Given the description of an element on the screen output the (x, y) to click on. 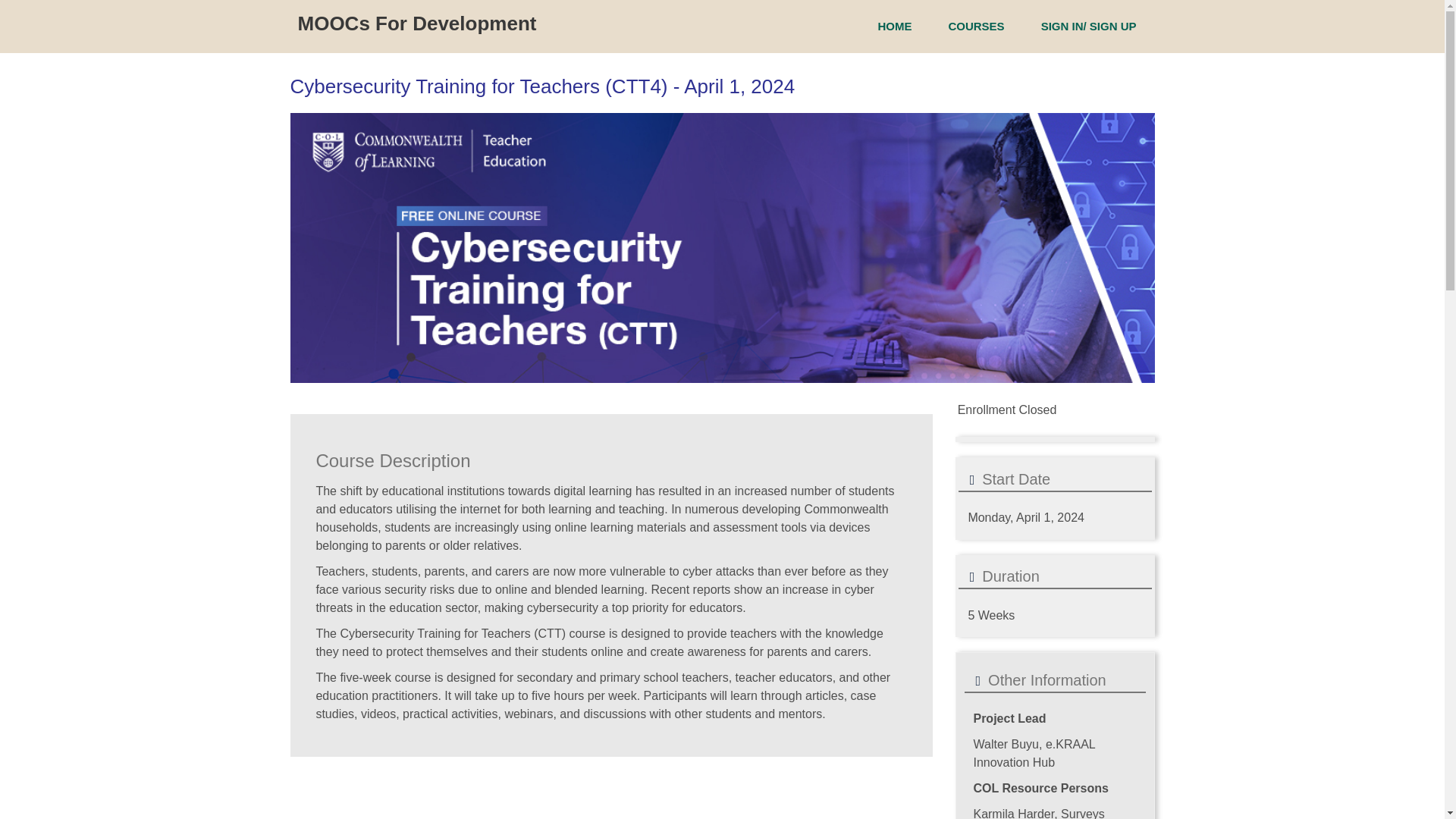
HOME (894, 26)
MOOCs For Development (416, 23)
COURSES (976, 26)
Home (416, 23)
